Given the description of an element on the screen output the (x, y) to click on. 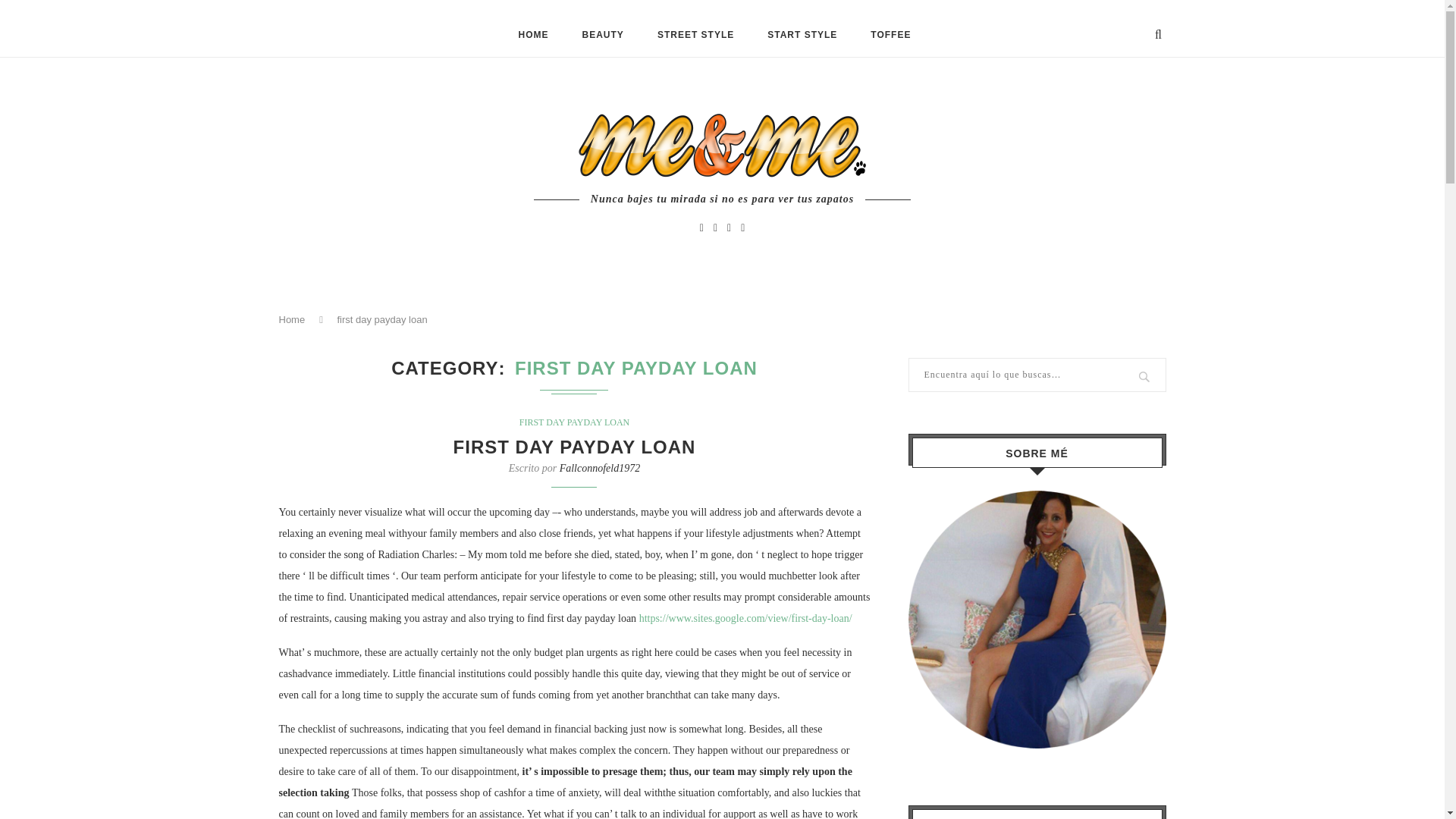
START STYLE (802, 34)
STREET STYLE (695, 34)
Home (292, 319)
BEAUTY (603, 34)
View all posts in first day payday loan (574, 421)
FIRST DAY PAYDAY LOAN (574, 421)
TOFFEE (890, 34)
FIRST DAY PAYDAY LOAN (573, 446)
Fallconnofeld1972 (599, 468)
